Given the description of an element on the screen output the (x, y) to click on. 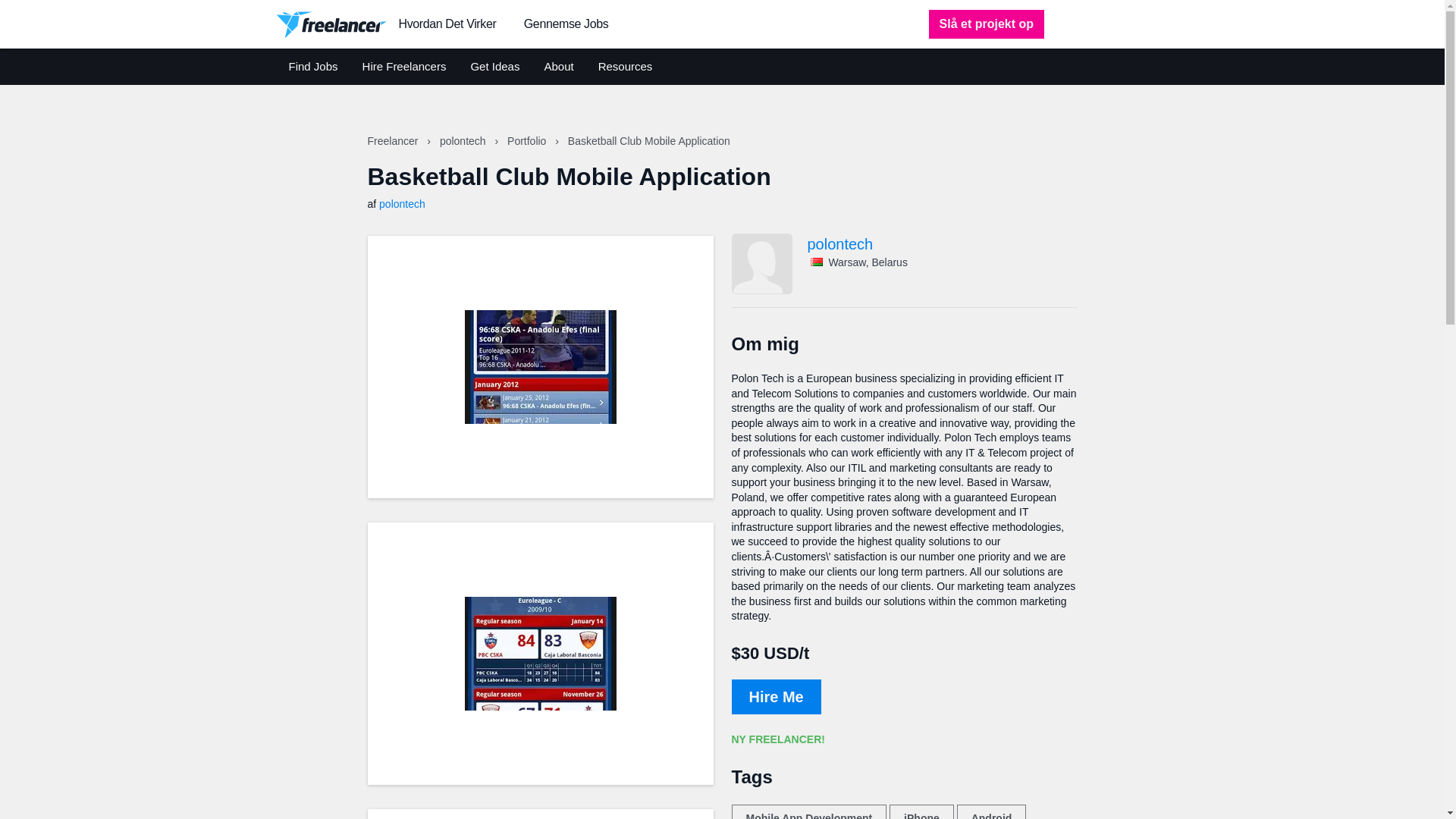
polontech (464, 141)
Get Ideas (494, 66)
polontech (401, 203)
Resources (625, 66)
Freelancer (393, 141)
Hire Me (775, 696)
Flag of Belarus (815, 261)
Portfolio (527, 141)
polontech (941, 243)
Find Jobs (312, 66)
Hvordan Det Virker (447, 24)
Android (991, 811)
iPhone (921, 811)
Gennemse Jobs (566, 24)
Hire Freelancers (404, 66)
